Given the description of an element on the screen output the (x, y) to click on. 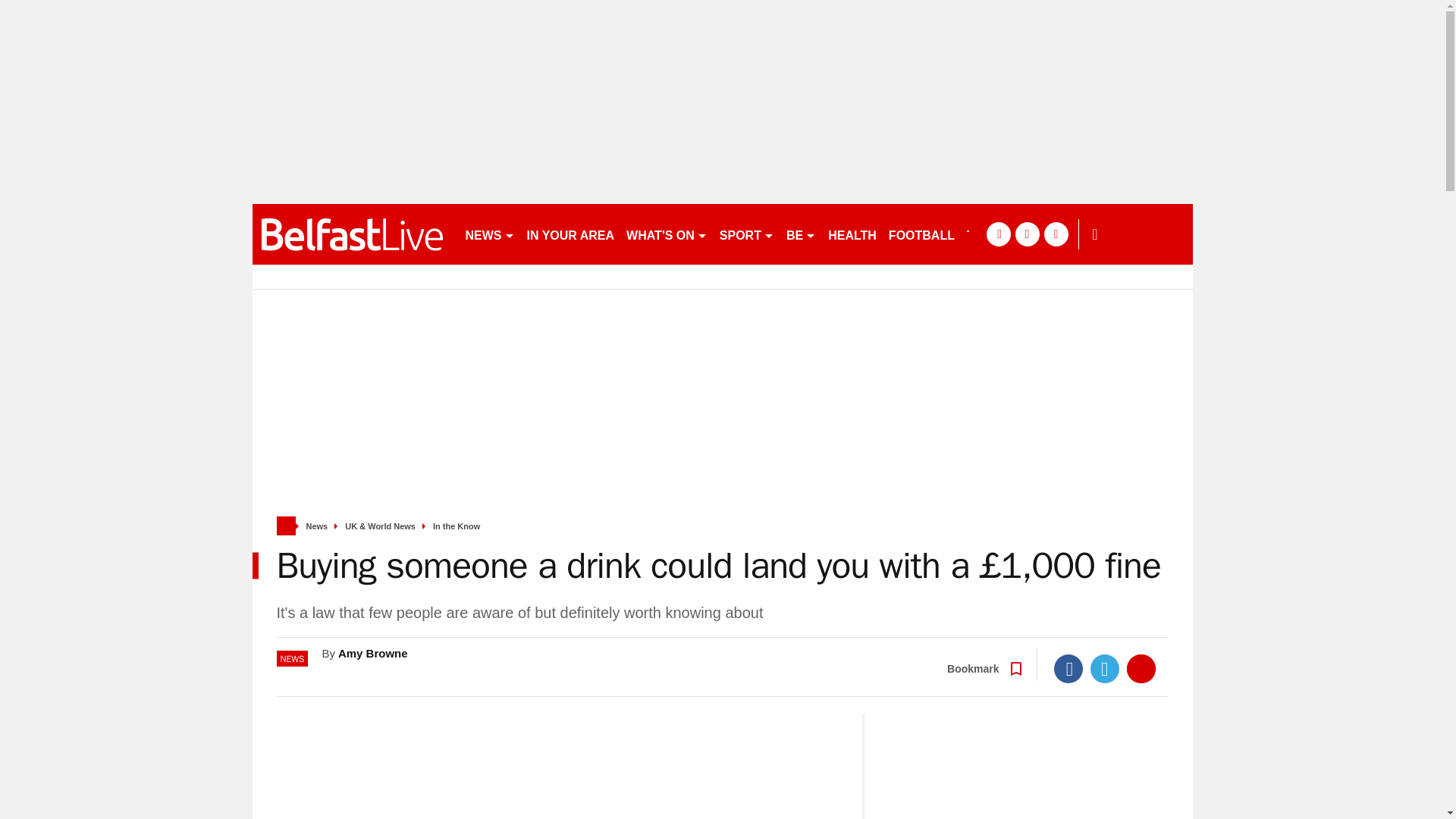
NEWS (490, 233)
belfastlive (351, 233)
IN YOUR AREA (569, 233)
SPORT (746, 233)
facebook (997, 233)
WHAT'S ON (666, 233)
twitter (1026, 233)
Facebook (1068, 668)
Twitter (1104, 668)
instagram (1055, 233)
